Given the description of an element on the screen output the (x, y) to click on. 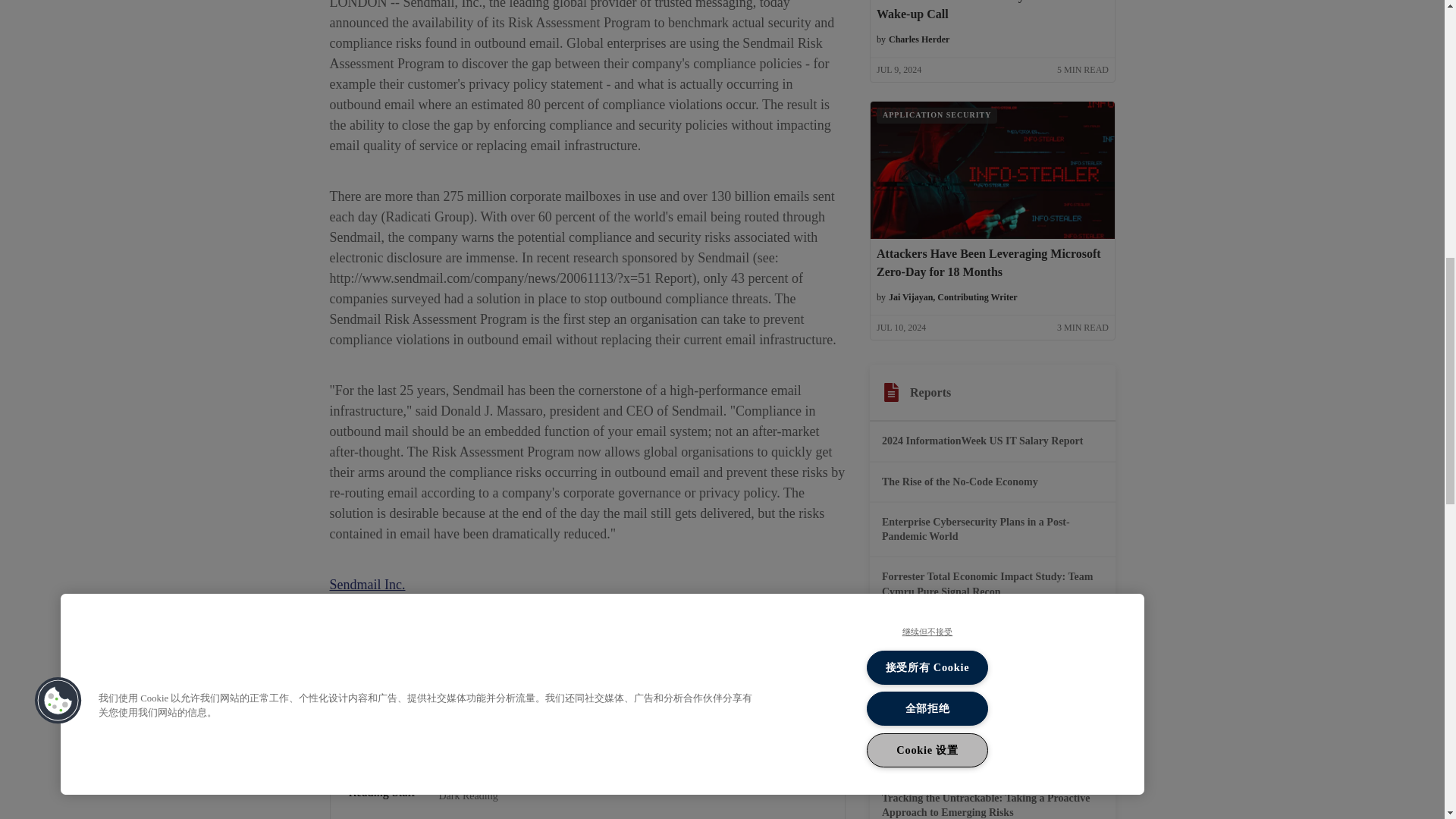
Dark Reading Staff (384, 791)
